Given the description of an element on the screen output the (x, y) to click on. 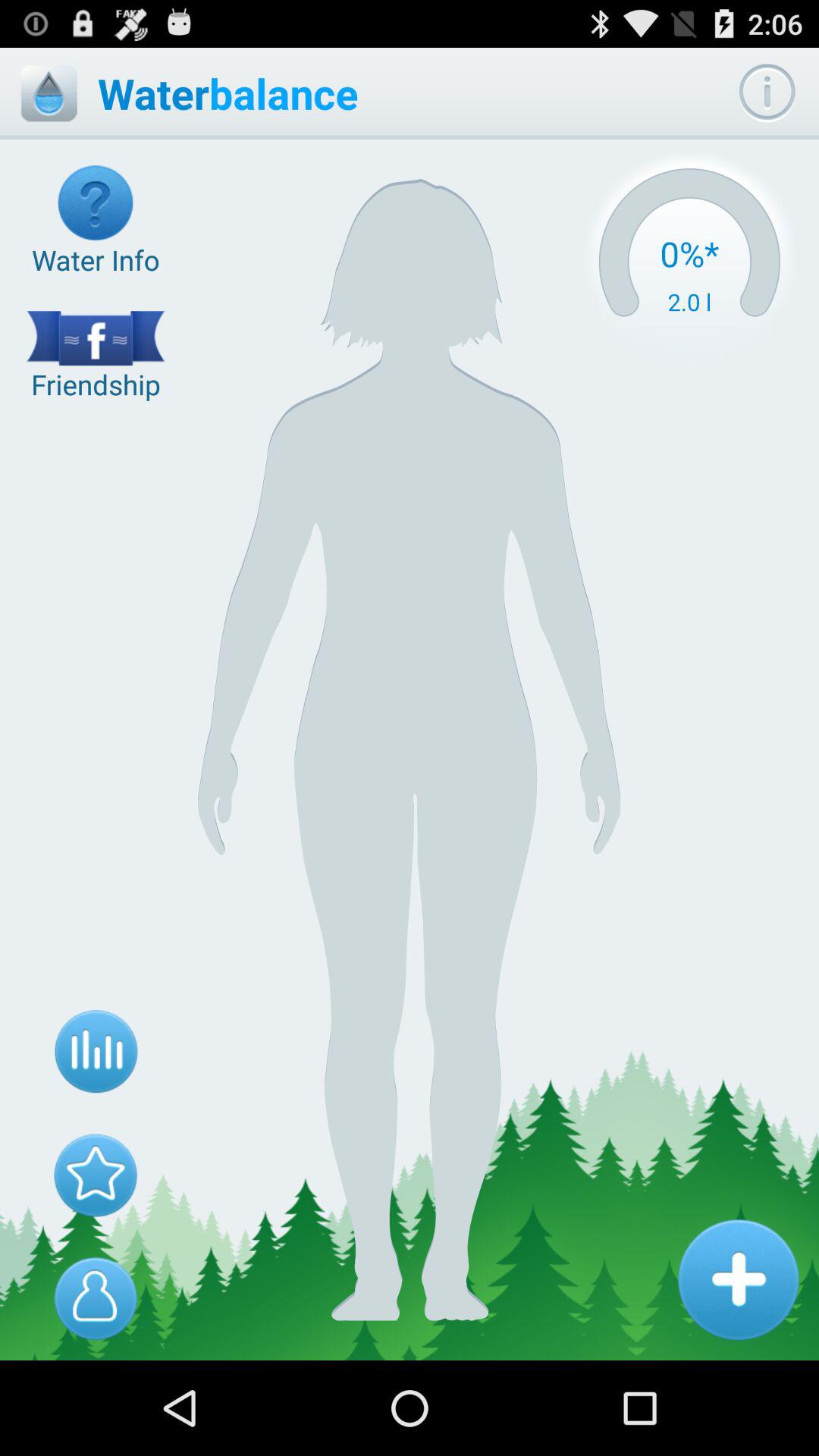
view my stats (95, 1051)
